Given the description of an element on the screen output the (x, y) to click on. 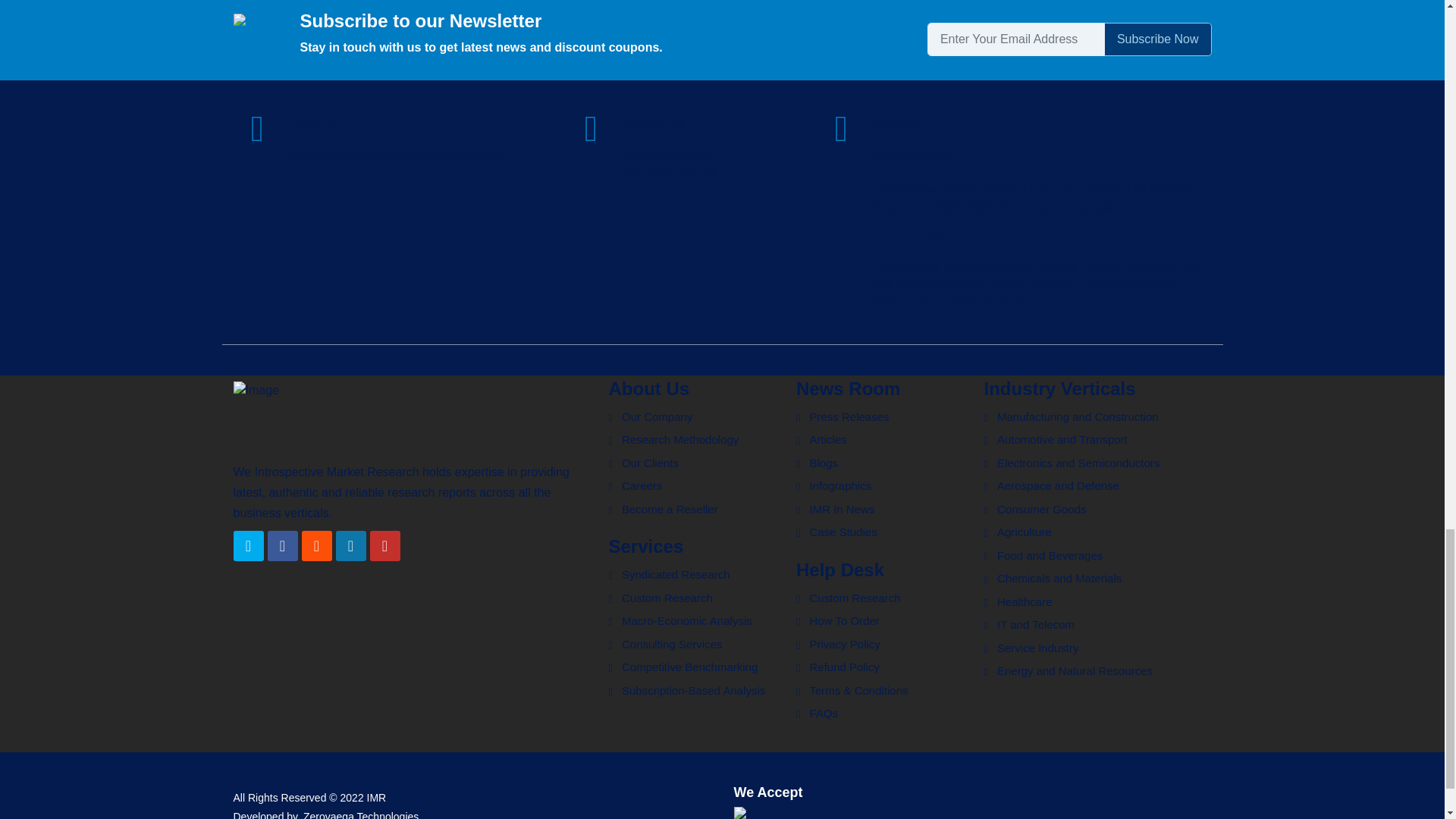
Twitter (247, 545)
Blogger (316, 545)
Linked In (349, 545)
Youtube (384, 545)
Subscribe Now (1157, 39)
Facebook (281, 545)
